Given the description of an element on the screen output the (x, y) to click on. 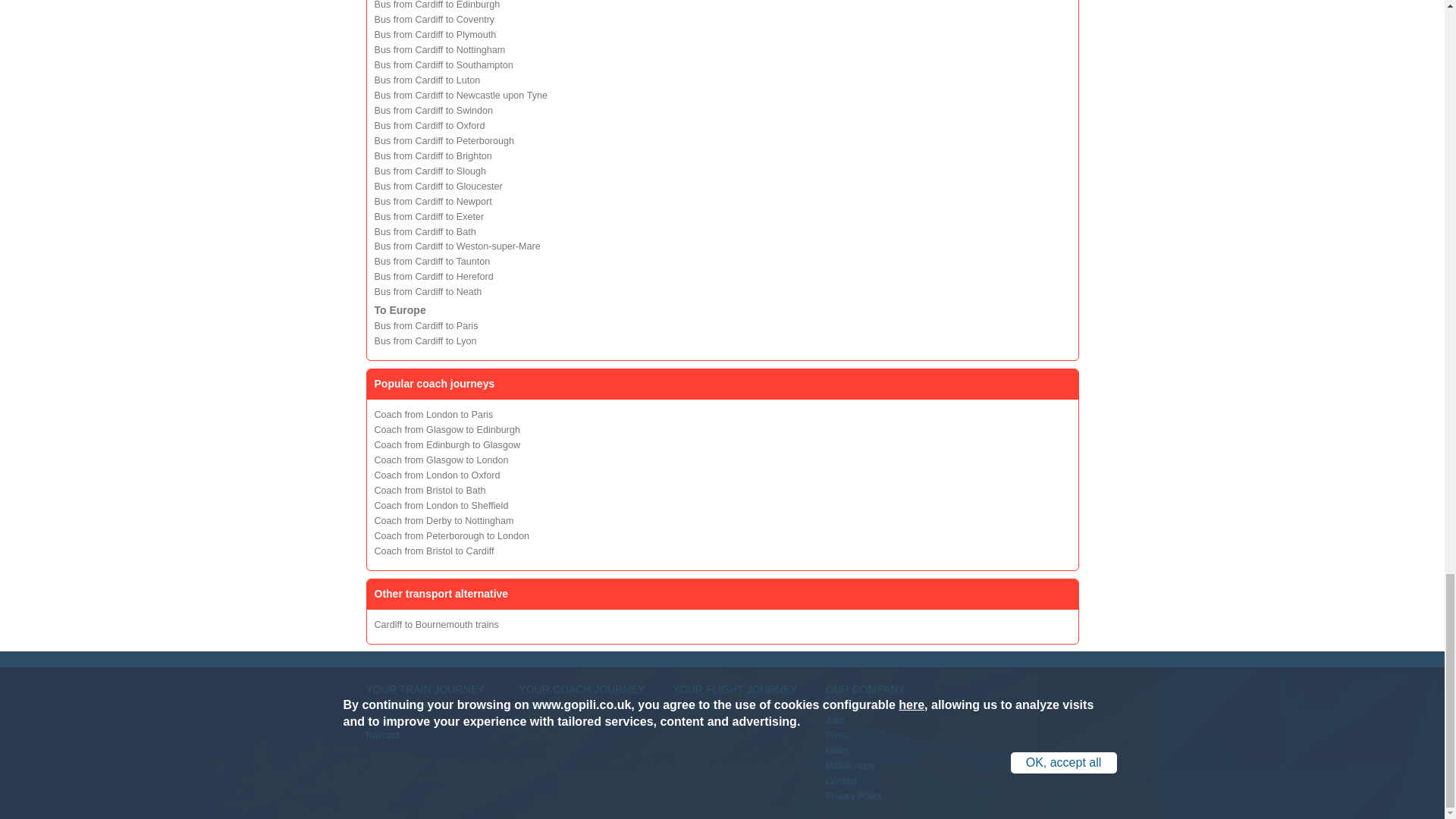
Bus from Cardiff to Southampton (443, 64)
Bus from Cardiff to Coventry (434, 19)
Bus from Cardiff to Plymouth (435, 34)
Bus from Cardiff to Luton (427, 80)
Bus from Cardiff to Nottingham (439, 50)
Bus from Cardiff to Edinburgh (437, 4)
